Given the description of an element on the screen output the (x, y) to click on. 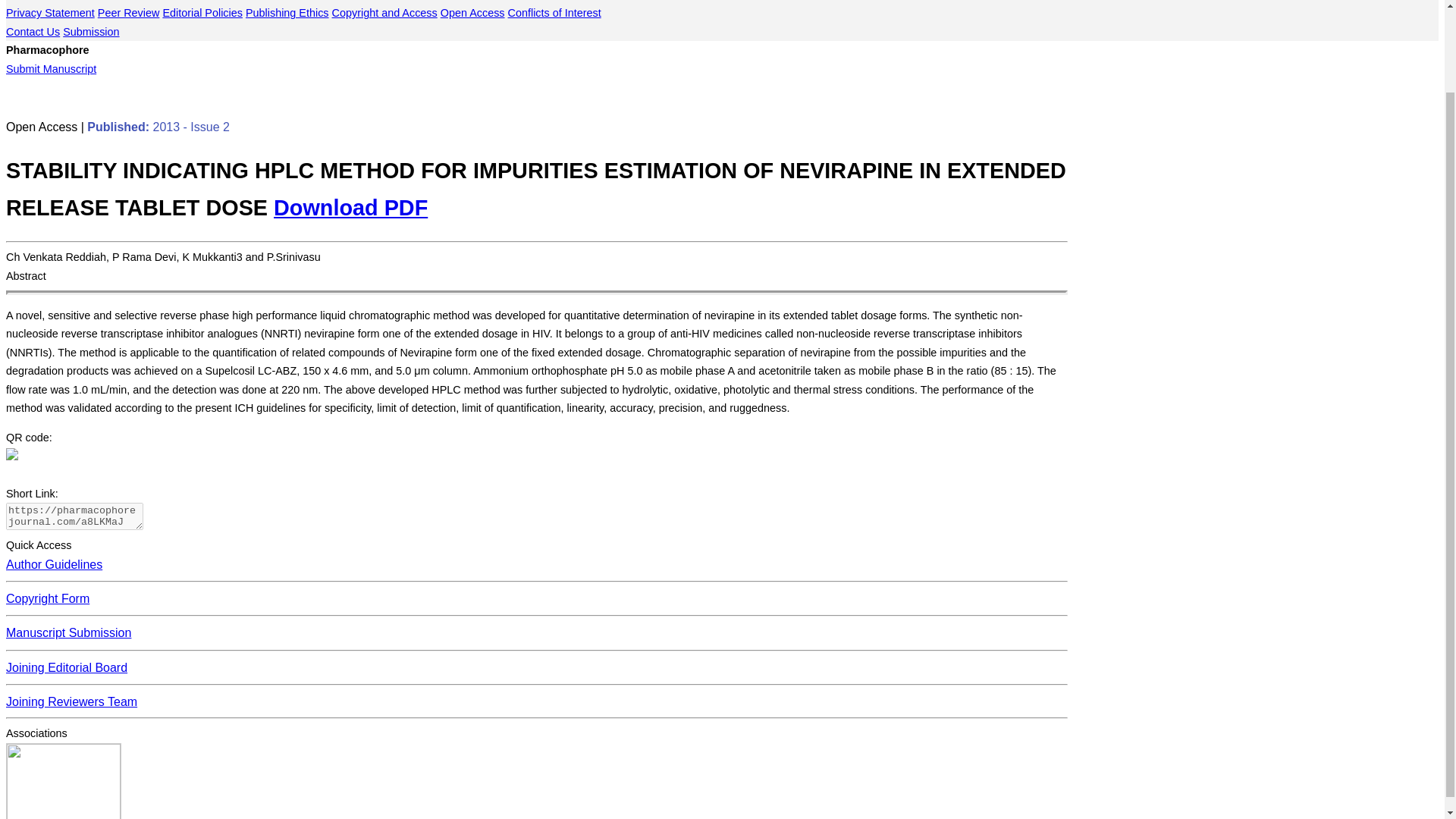
Copyright and Access (384, 12)
Copyright Form (46, 598)
Editorial Policies (202, 12)
Contact Us (32, 31)
Joining Editorial Board (66, 667)
Download PDF (350, 207)
Open Access (473, 12)
Privacy Statement (49, 12)
Publishing Ethics (287, 12)
